Given the description of an element on the screen output the (x, y) to click on. 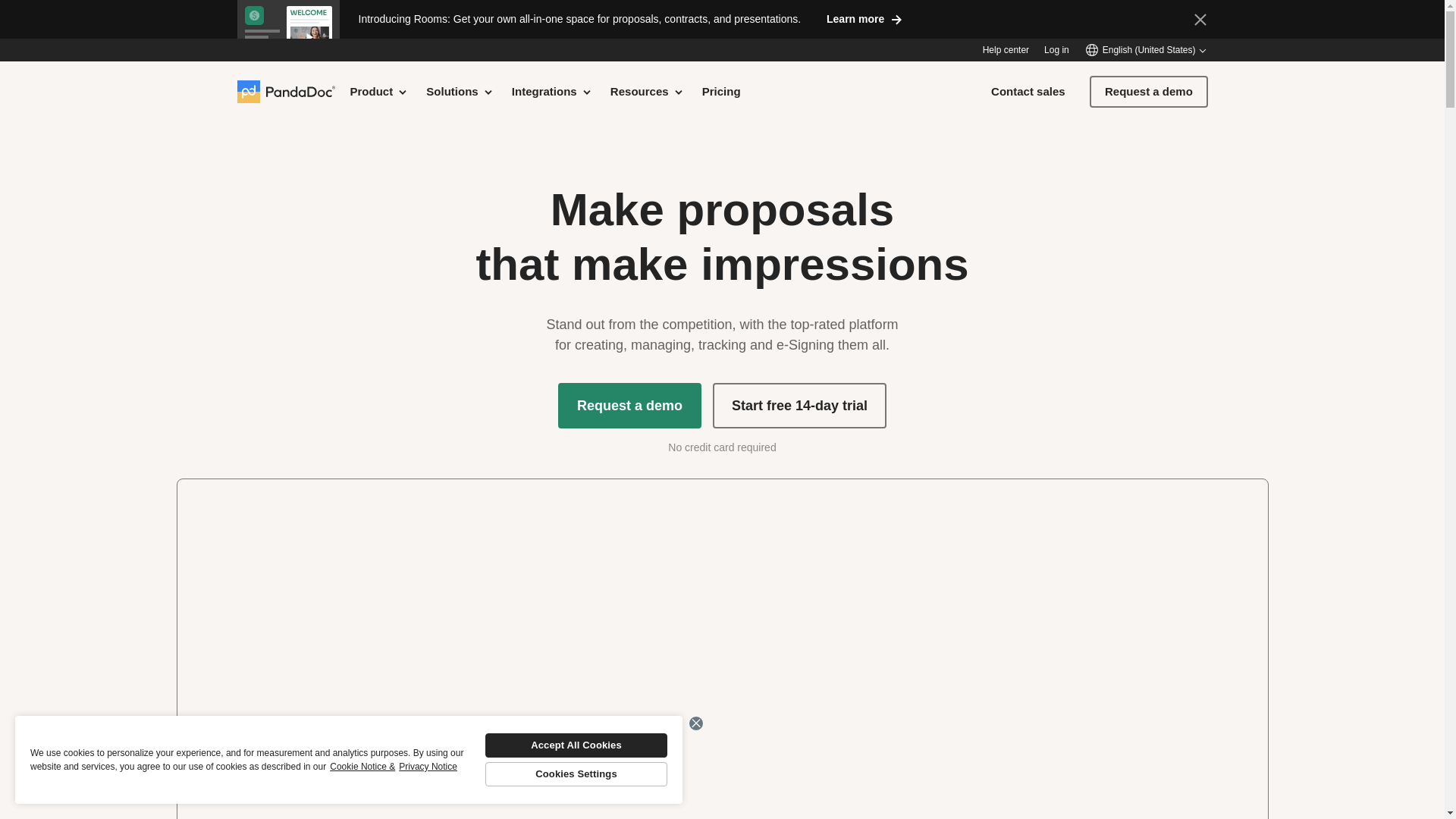
Help center (1005, 49)
Learn more (864, 18)
Product (379, 91)
Log in (1055, 49)
Solutions (459, 91)
